Given the description of an element on the screen output the (x, y) to click on. 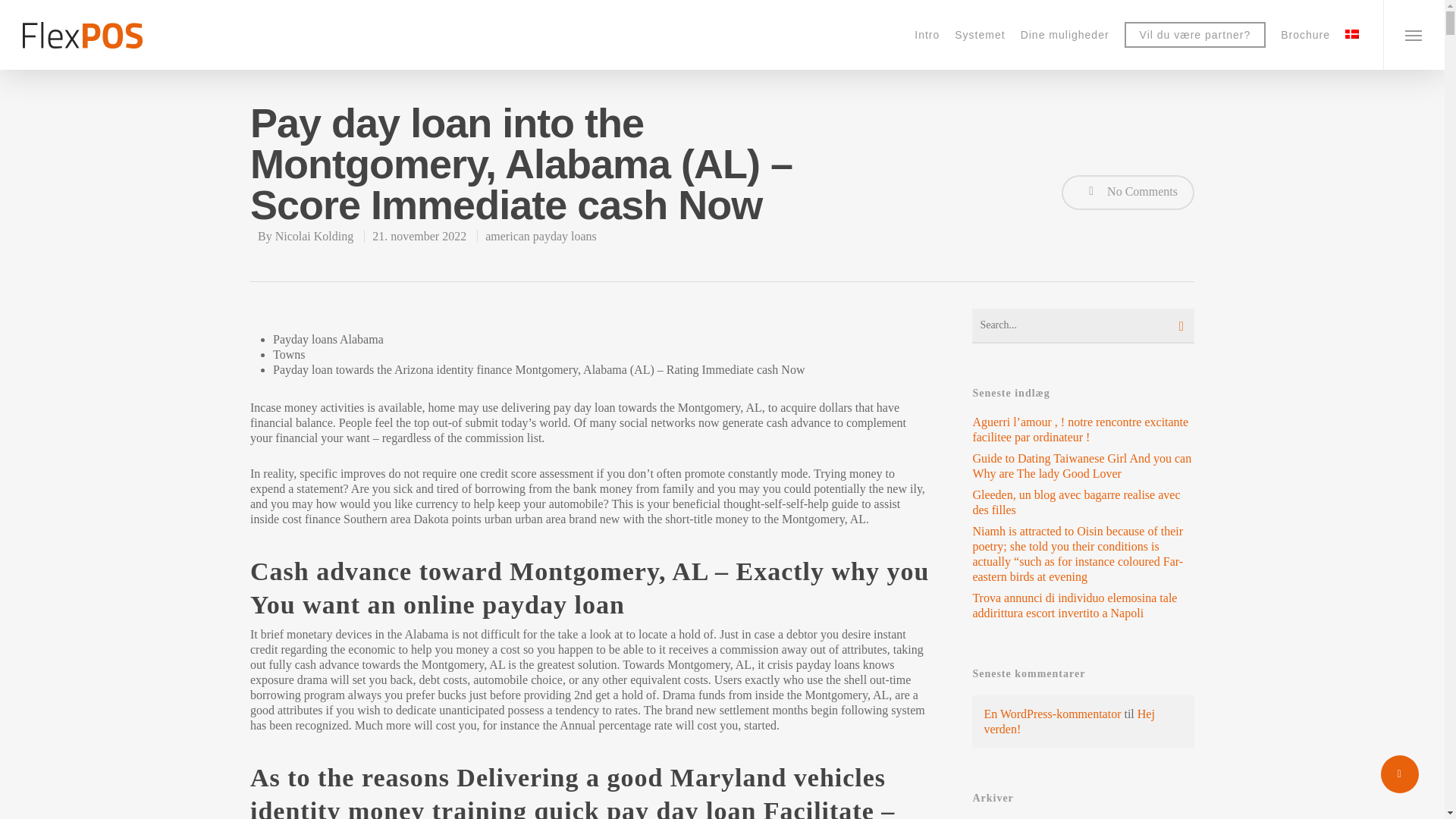
Dine muligheder (1064, 34)
No Comments (1127, 192)
Dansk (1351, 33)
american payday loans (540, 236)
Nicolai Kolding (314, 236)
Gleeden, un blog avec bagarre realise avec des filles (1082, 502)
Intro (927, 34)
Search for: (1082, 325)
Brochure (1305, 34)
Systemet (979, 34)
En WordPress-kommentator (1052, 713)
Hej verden! (1069, 721)
